Given the description of an element on the screen output the (x, y) to click on. 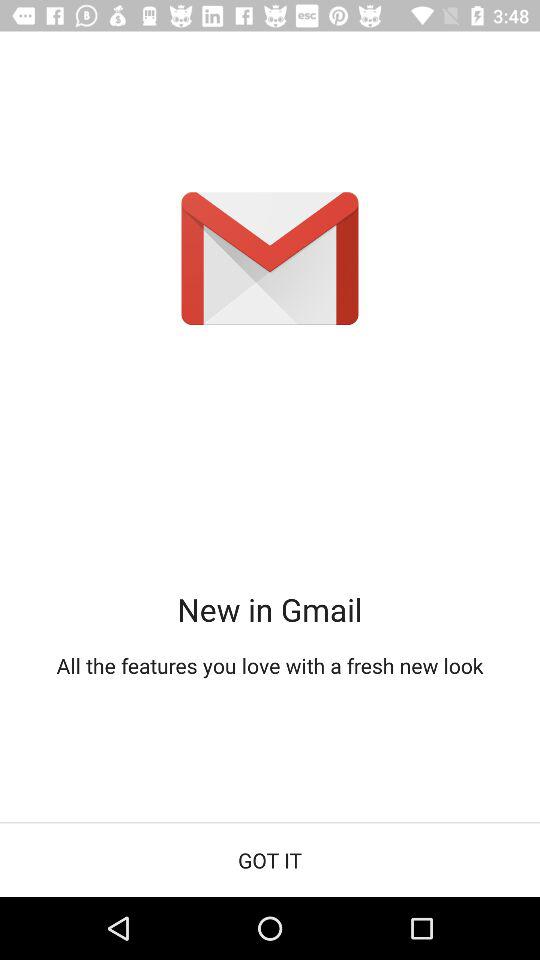
swipe to got it (270, 859)
